Given the description of an element on the screen output the (x, y) to click on. 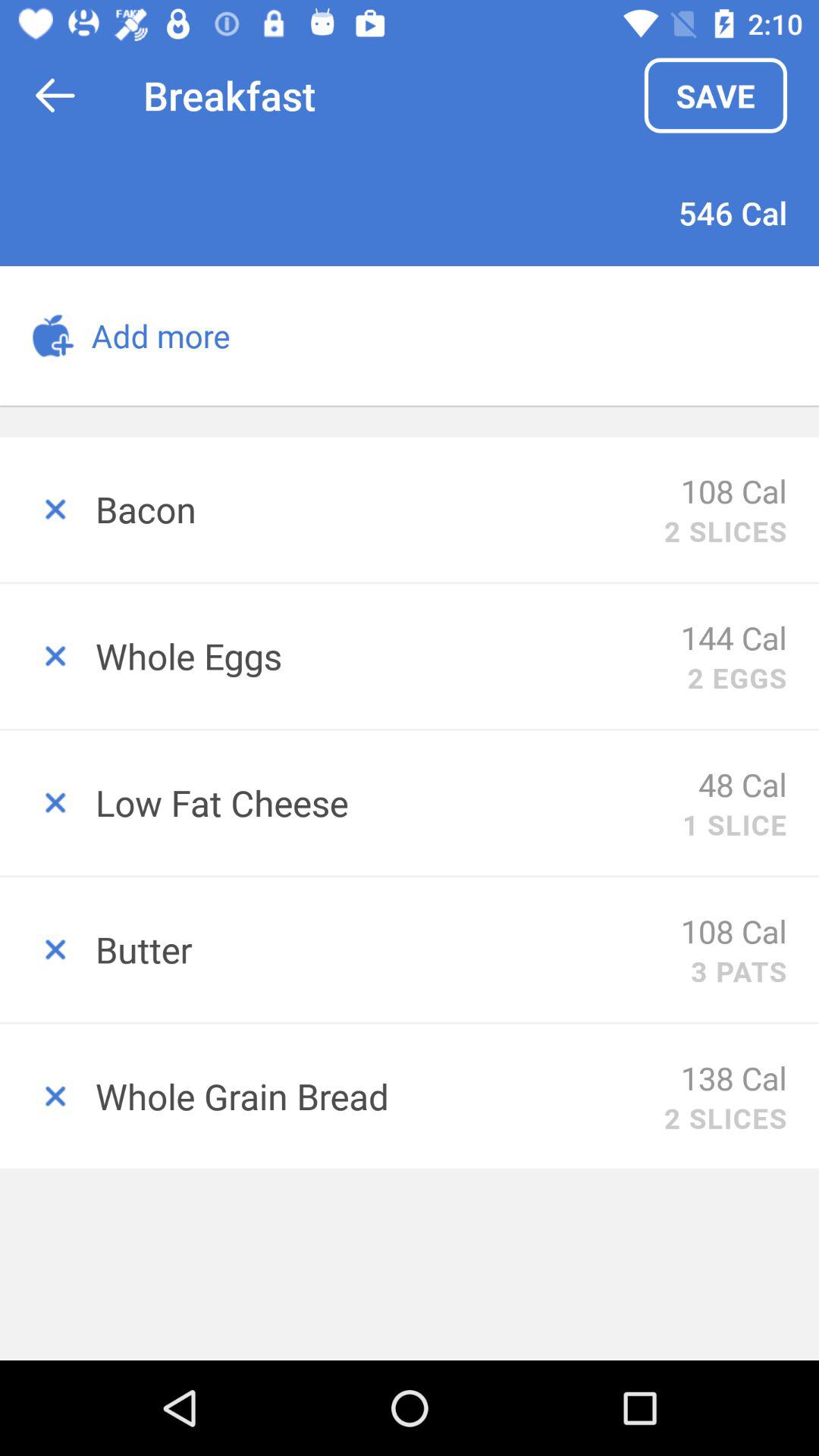
erase this (47, 949)
